Given the description of an element on the screen output the (x, y) to click on. 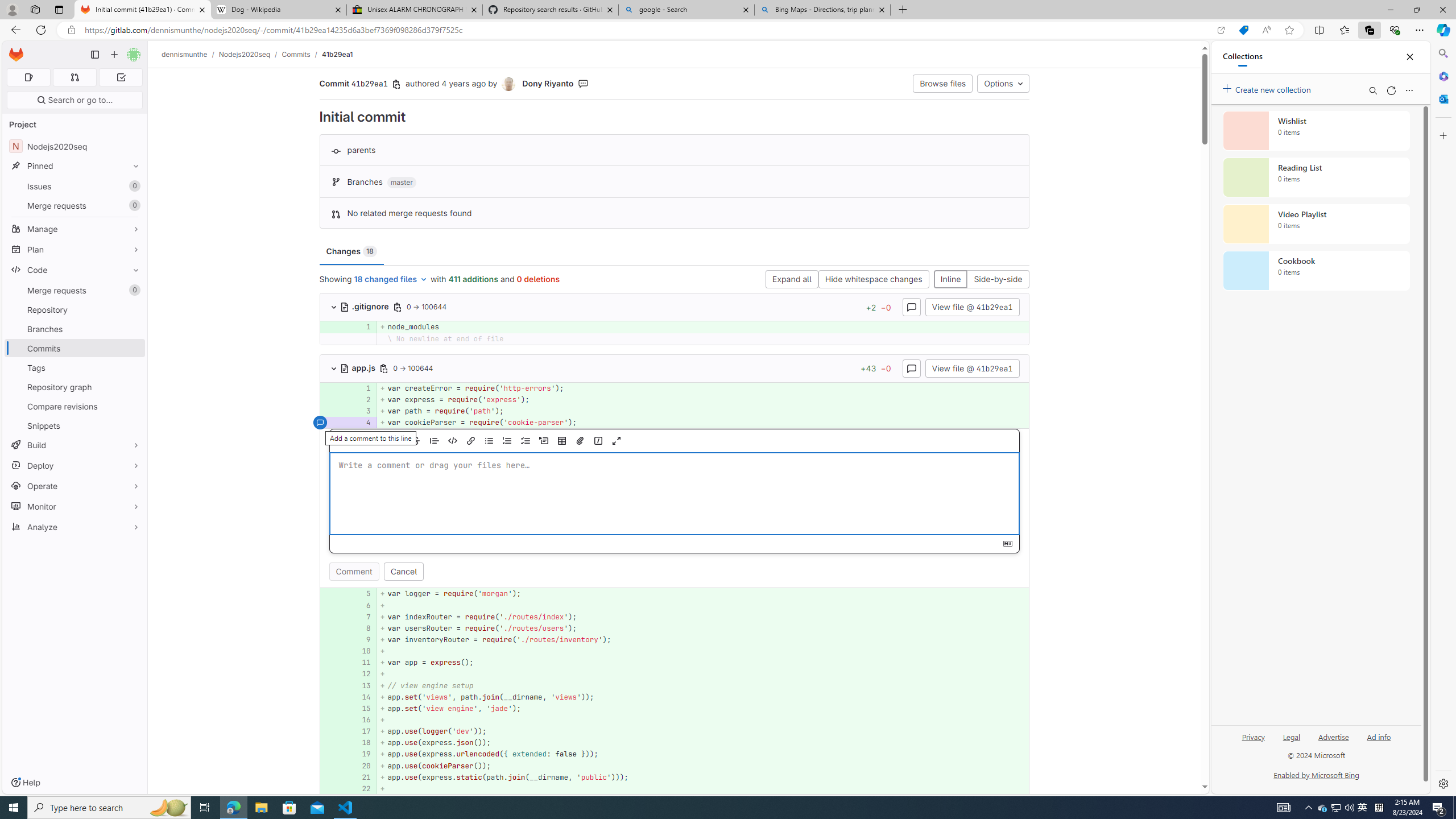
Deploy (74, 465)
AutomationID: 4a68969ef8e858229267b842dedf42ab5dde4d50_0_15 (674, 708)
+ var usersRouter = require('./routes/users');  (703, 627)
Dony Riyanto's avatar (509, 83)
Pin Snippets (132, 425)
Operate (74, 485)
AutomationID: 4a68969ef8e858229267b842dedf42ab5dde4d50_0_21 (674, 776)
Add a comment to this line  (333, 788)
Pin Commits (132, 348)
13 (362, 685)
Class: s16 gl-icon gl-button-icon  (1007, 543)
Reading List collection, 0 items (1316, 177)
